Given the description of an element on the screen output the (x, y) to click on. 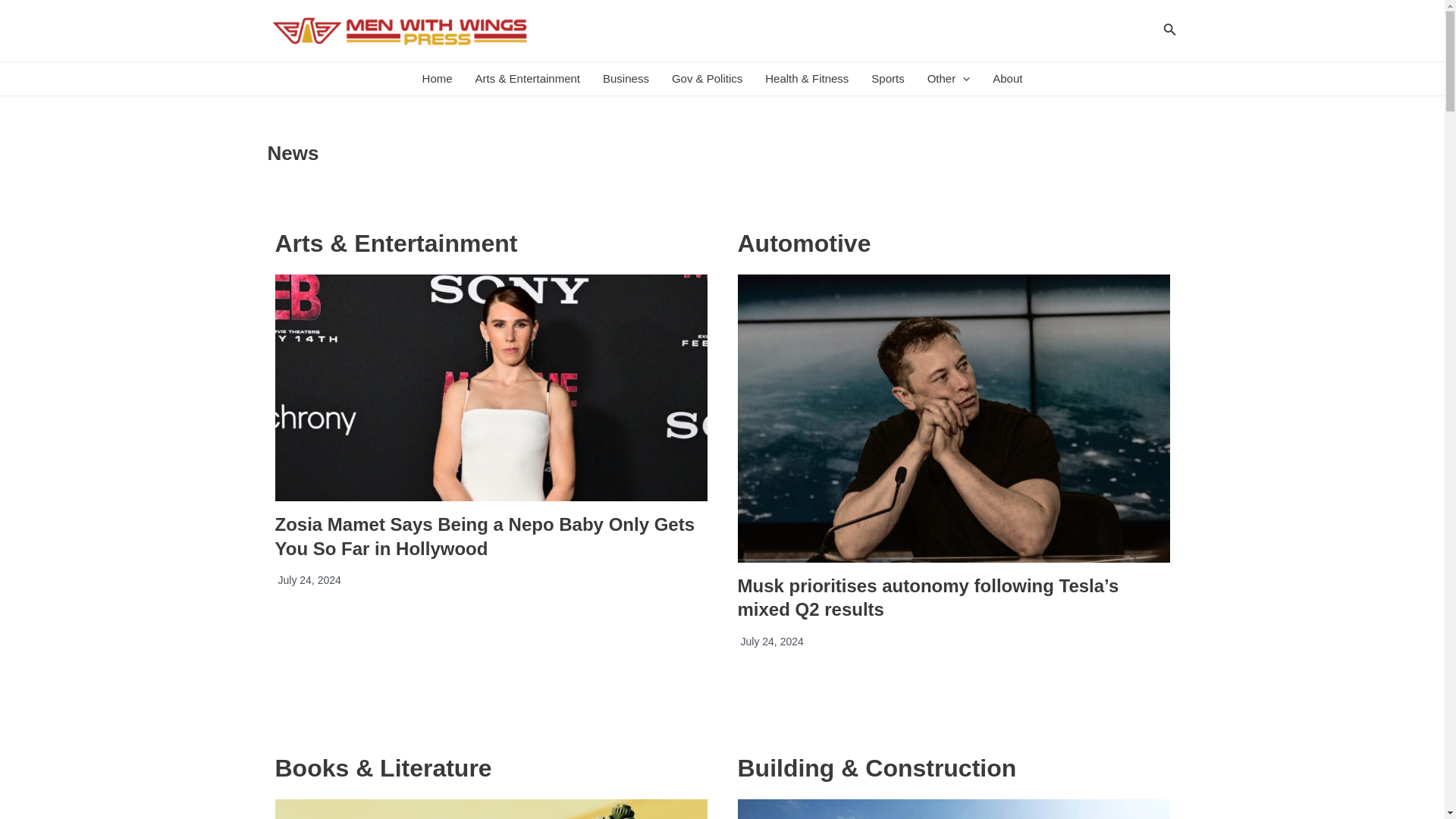
About (1007, 78)
Sports (887, 78)
Home (437, 78)
Other (948, 78)
Business (626, 78)
